Given the description of an element on the screen output the (x, y) to click on. 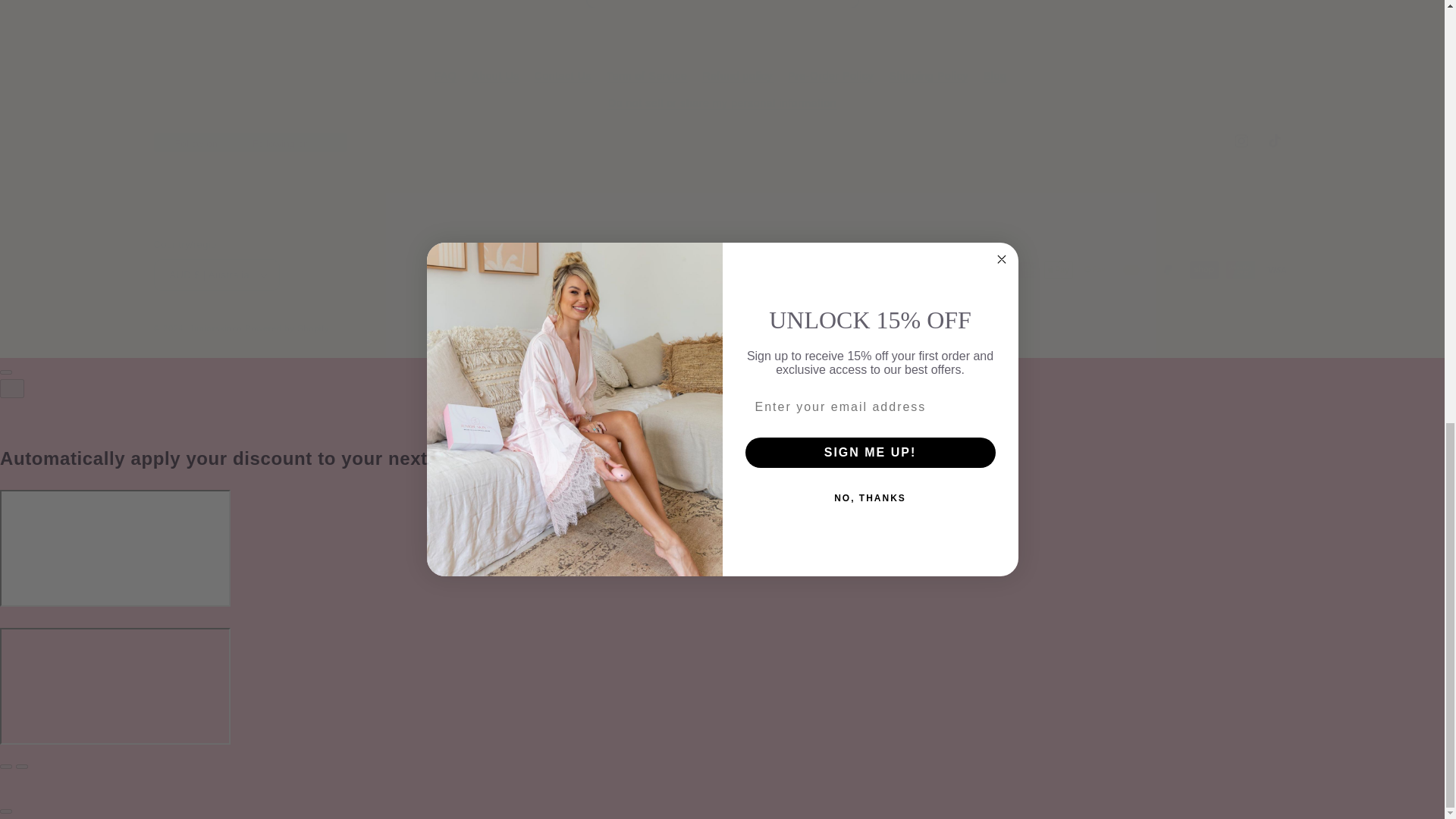
About Us (494, 76)
Powered by Shopify (286, 327)
Do not sell or share my personal information (721, 102)
Blog (995, 76)
FAQ (445, 77)
Juniorskinco (216, 327)
Instagram (1240, 141)
TikTok (1273, 141)
Email (722, 4)
Shipping Policy (928, 76)
Contact Us (562, 76)
Term of Service (647, 76)
Pre-Order Policy (830, 76)
